Given the description of an element on the screen output the (x, y) to click on. 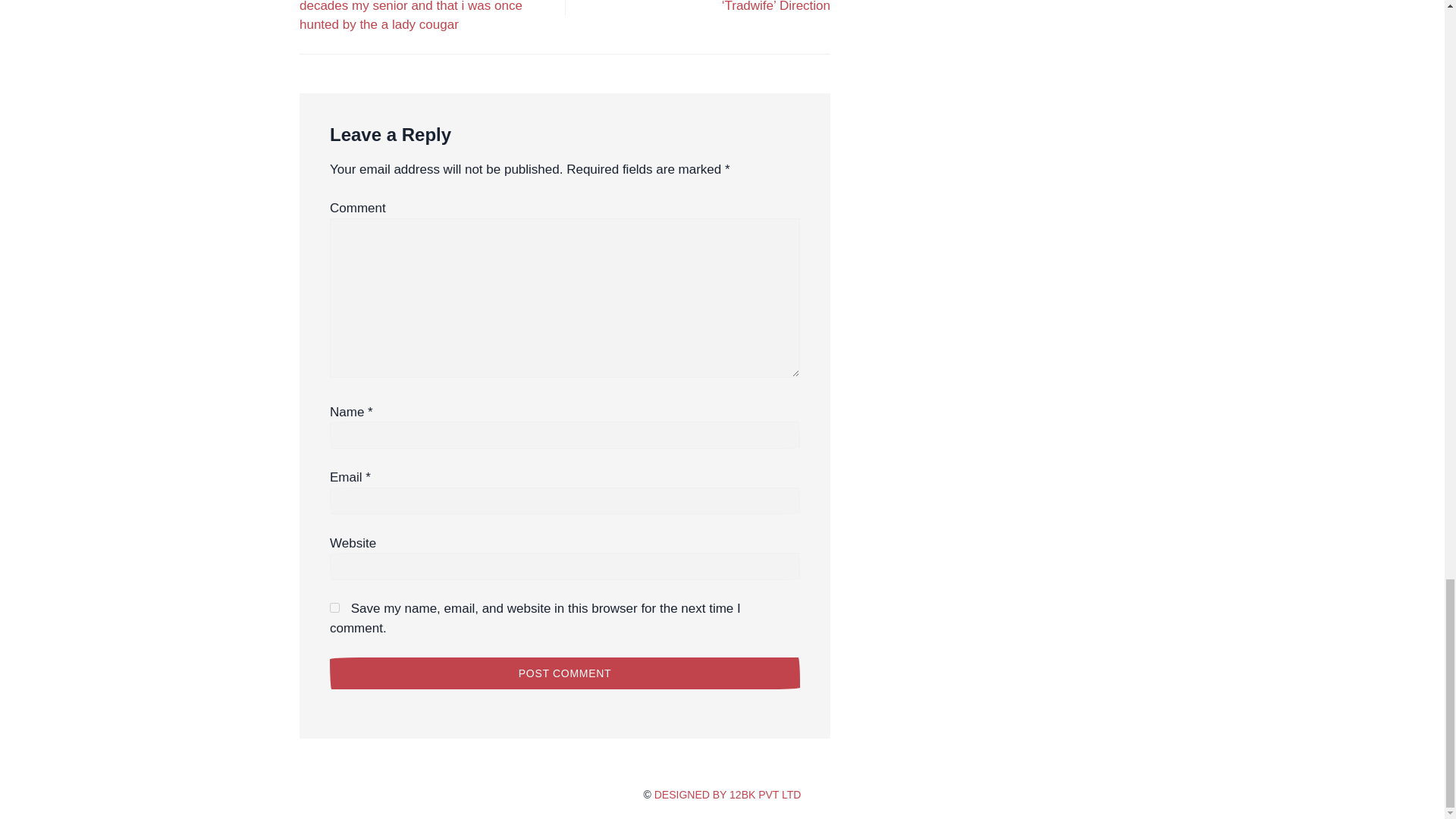
yes (334, 607)
DESIGNED BY 12BK PVT LTD (727, 795)
Post Comment (564, 673)
Post Comment (564, 673)
